Given the description of an element on the screen output the (x, y) to click on. 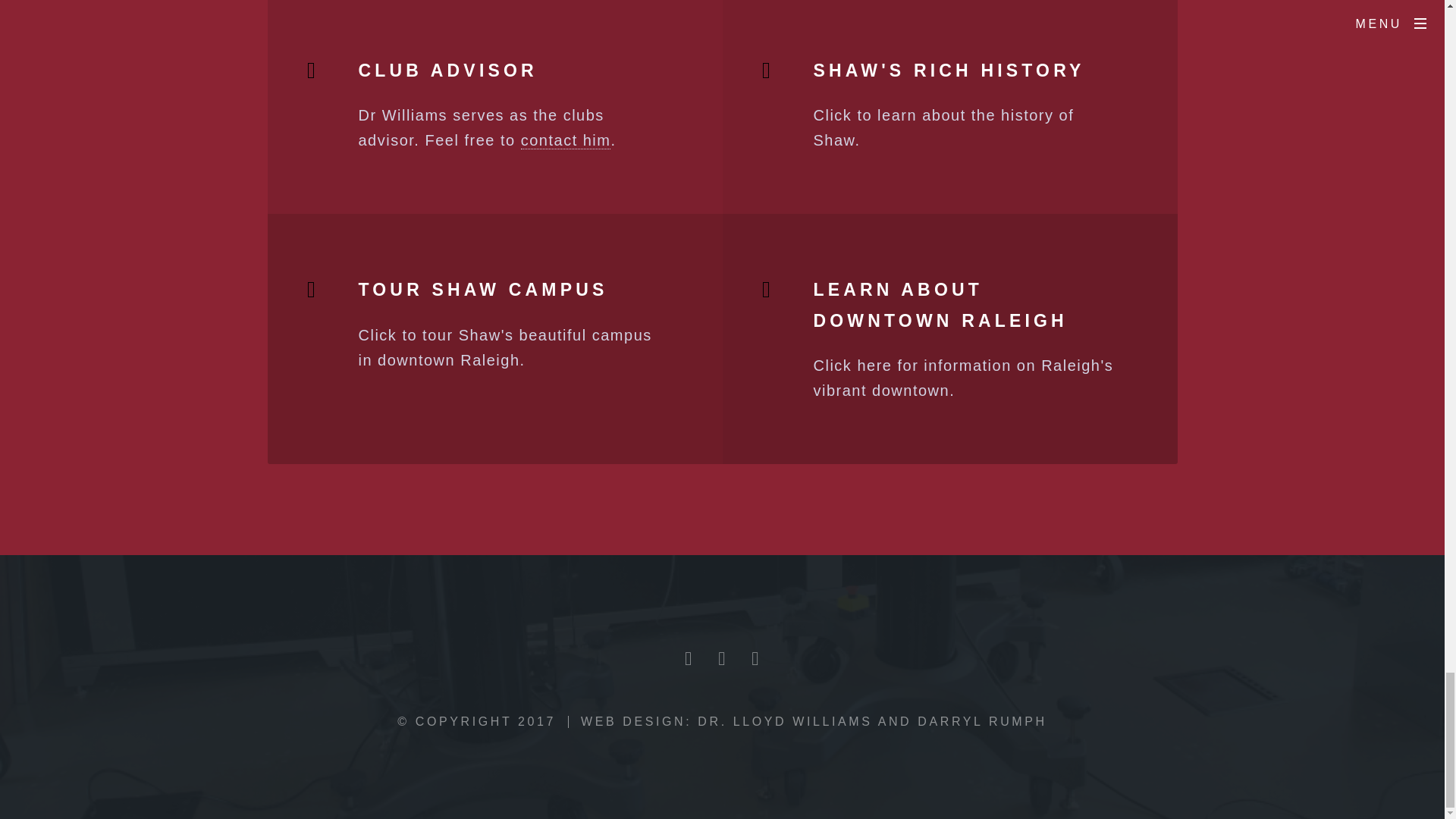
contact him (566, 140)
